Given the description of an element on the screen output the (x, y) to click on. 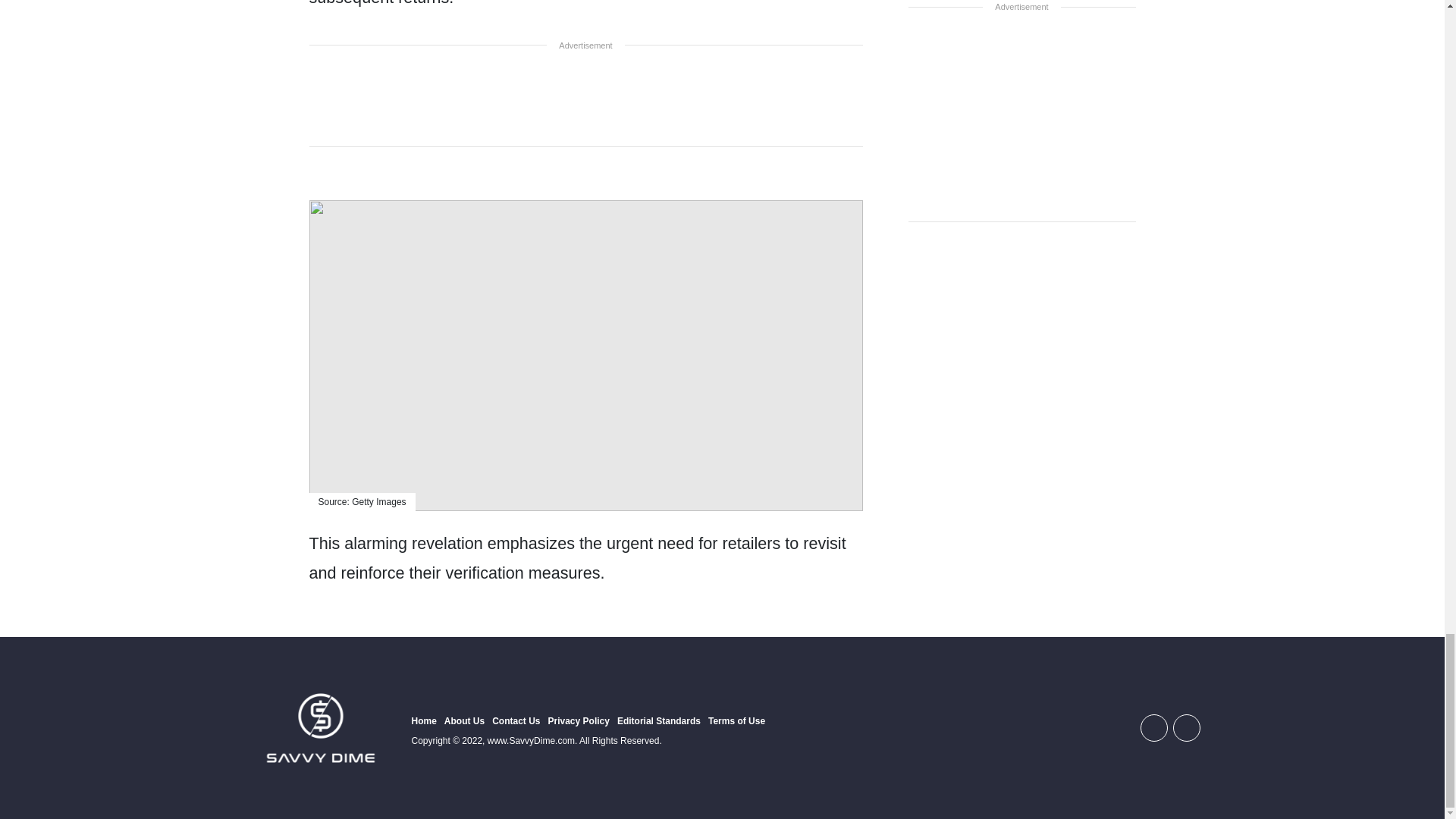
Contact Us (516, 720)
About Us (464, 720)
Terms of Use (736, 720)
Privacy Policy (579, 720)
Home (422, 720)
Editorial Standards (658, 720)
